Given the description of an element on the screen output the (x, y) to click on. 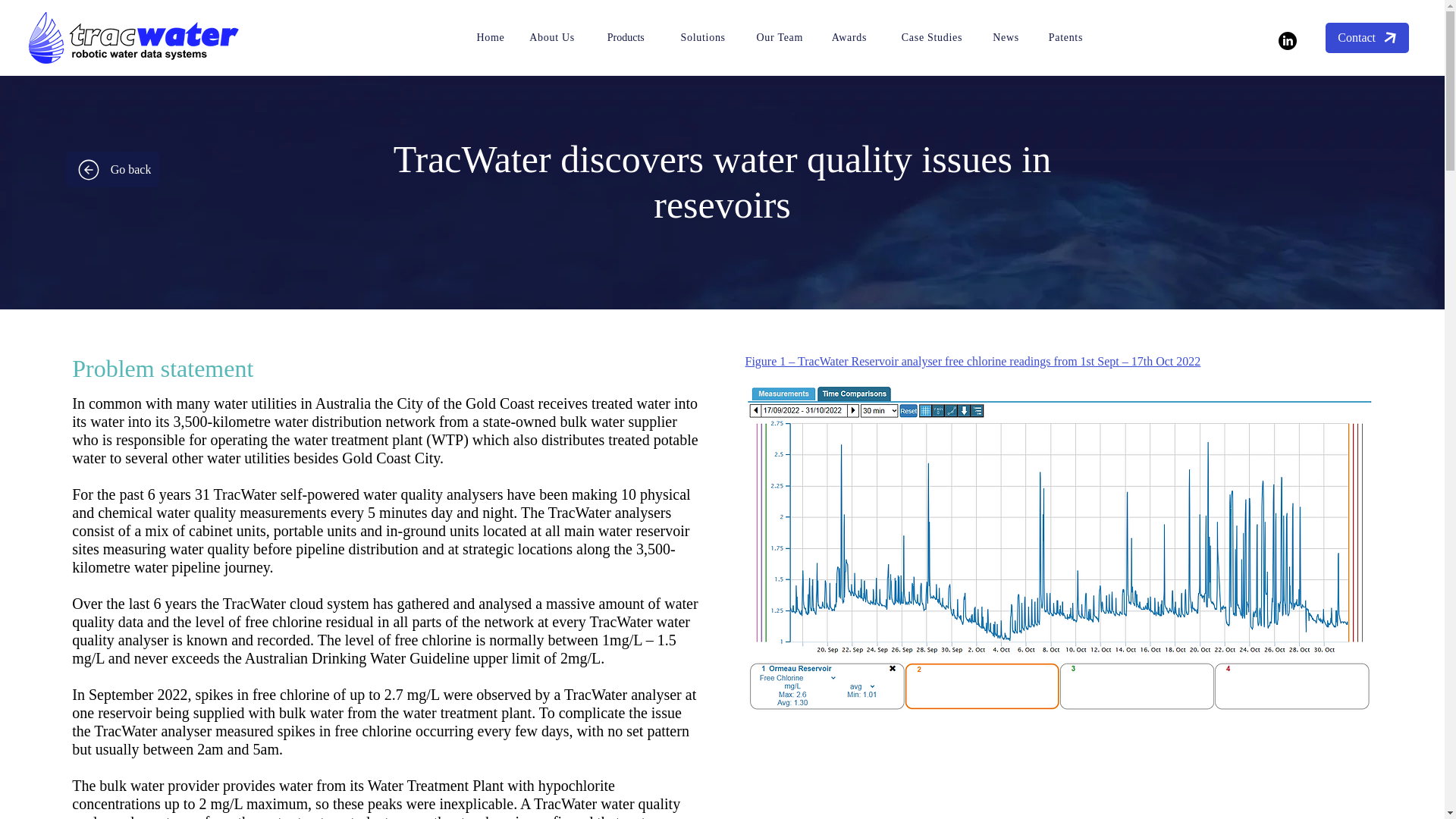
News (1005, 37)
Our Team (780, 37)
Patents (1065, 37)
About Us (552, 37)
Case Studies (931, 37)
Solutions (703, 37)
Contact (1366, 37)
Awards (848, 37)
Home (489, 37)
